Given the description of an element on the screen output the (x, y) to click on. 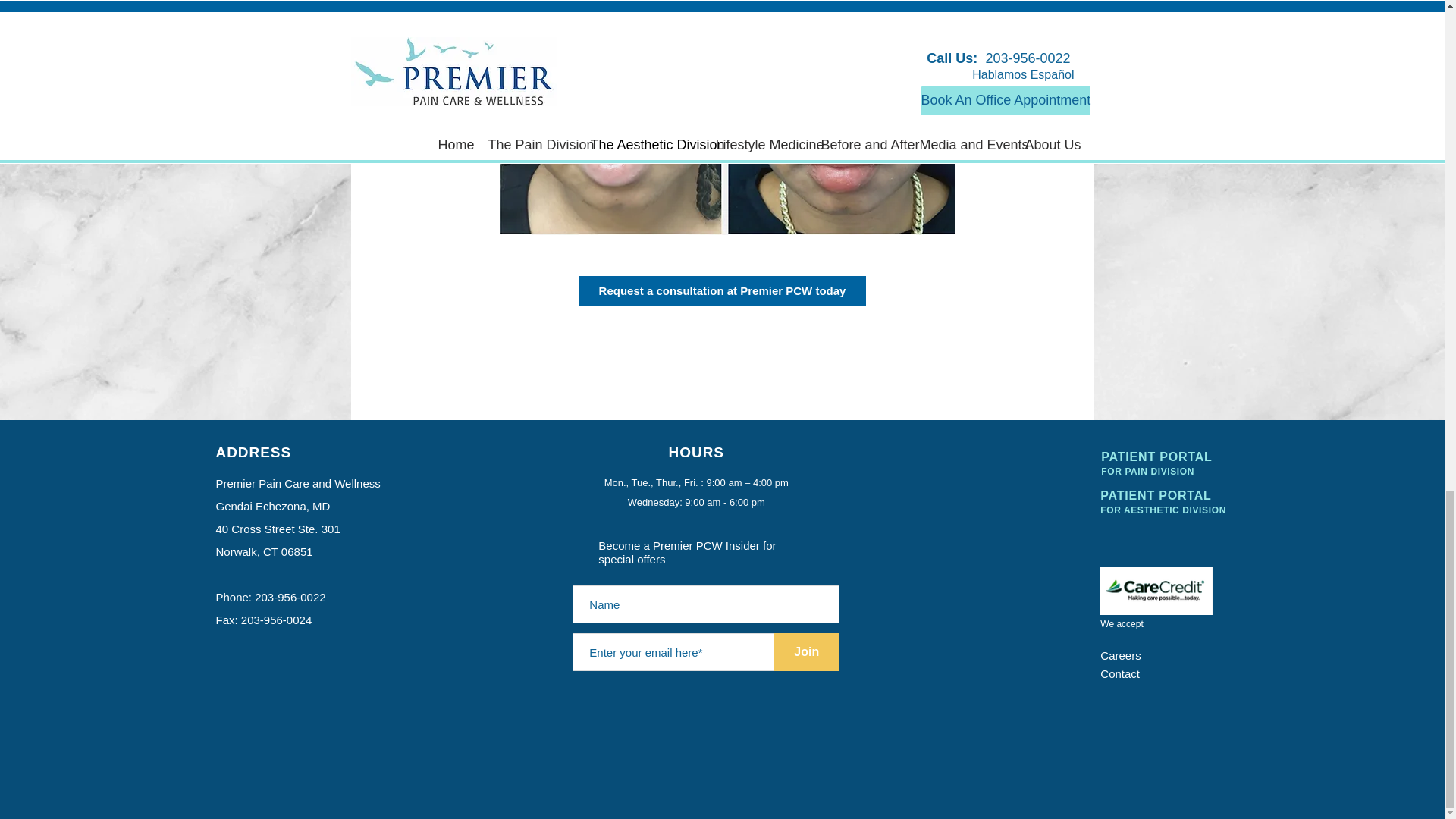
Join (1162, 501)
PATIENT PORTAL (806, 651)
FOR PAIN DIVISI (1155, 456)
HOURS (1139, 471)
ON (695, 452)
Request a consultation at Premier PCW today (1186, 471)
